Given the description of an element on the screen output the (x, y) to click on. 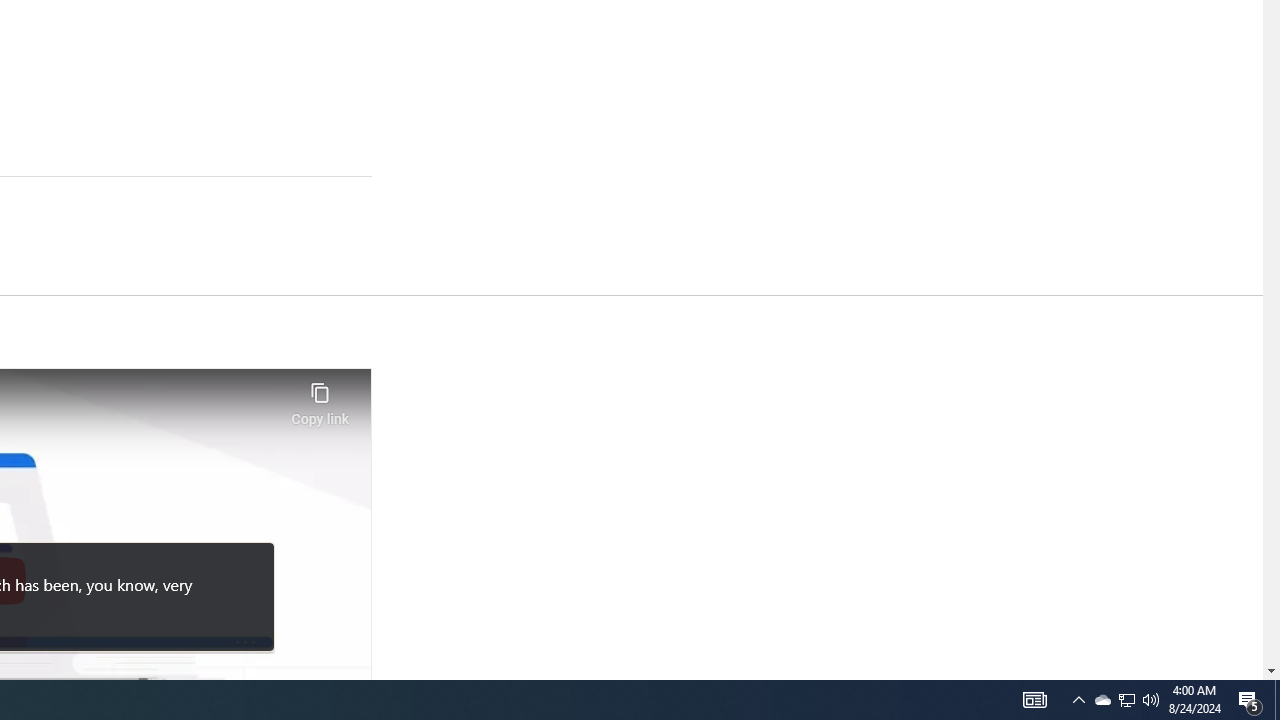
Copy link (319, 398)
